Given the description of an element on the screen output the (x, y) to click on. 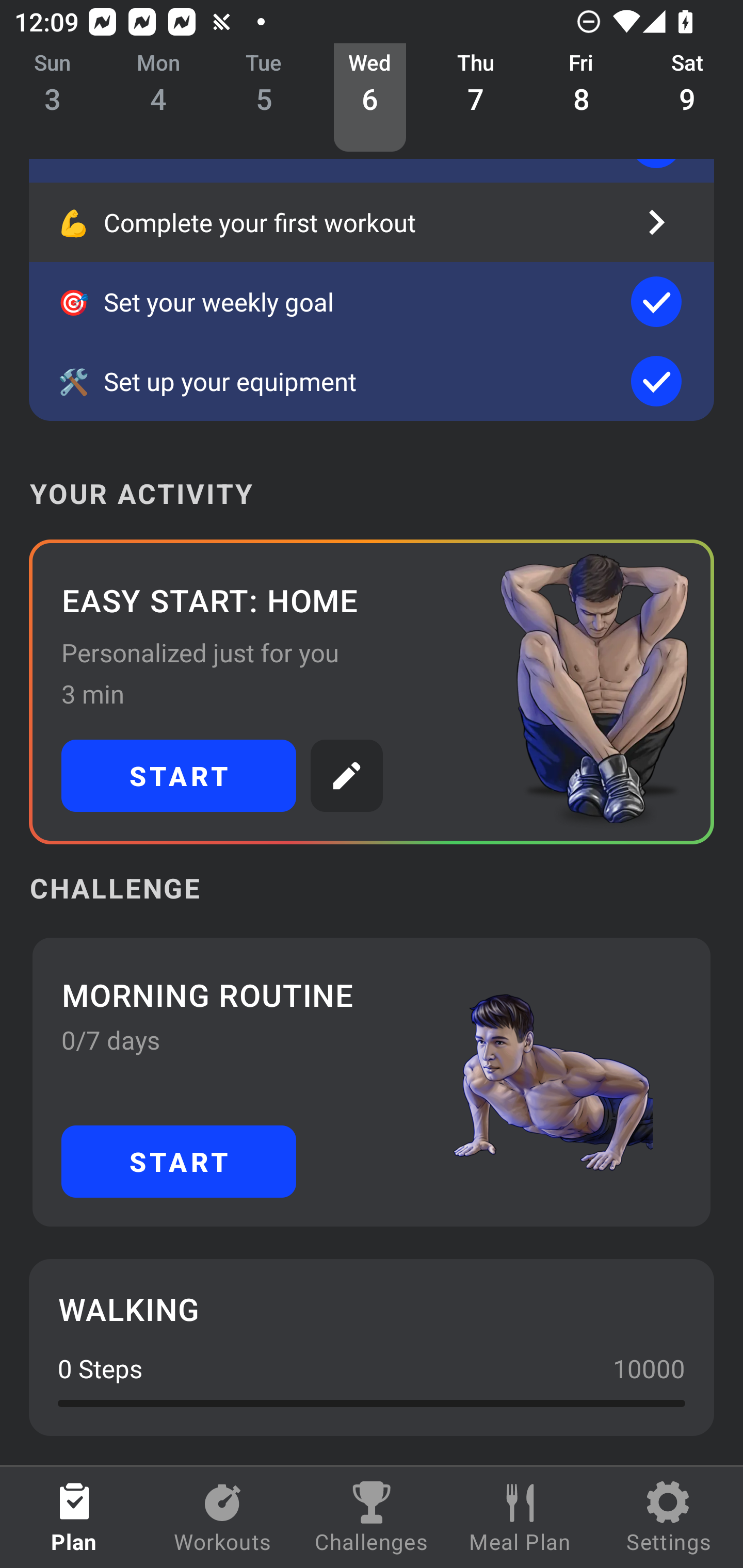
Sun 3 (52, 97)
Mon 4 (158, 97)
Tue 5 (264, 97)
Wed 6 (369, 97)
Thu 7 (475, 97)
Fri 8 (581, 97)
Sat 9 (687, 97)
💪 Complete your first workout (371, 221)
START (178, 776)
MORNING ROUTINE 0/7 days START (371, 1082)
START (178, 1161)
WALKING 0 Steps 10000 0.0 (371, 1347)
 Workouts  (222, 1517)
 Challenges  (371, 1517)
 Meal Plan  (519, 1517)
 Settings  (668, 1517)
